Given the description of an element on the screen output the (x, y) to click on. 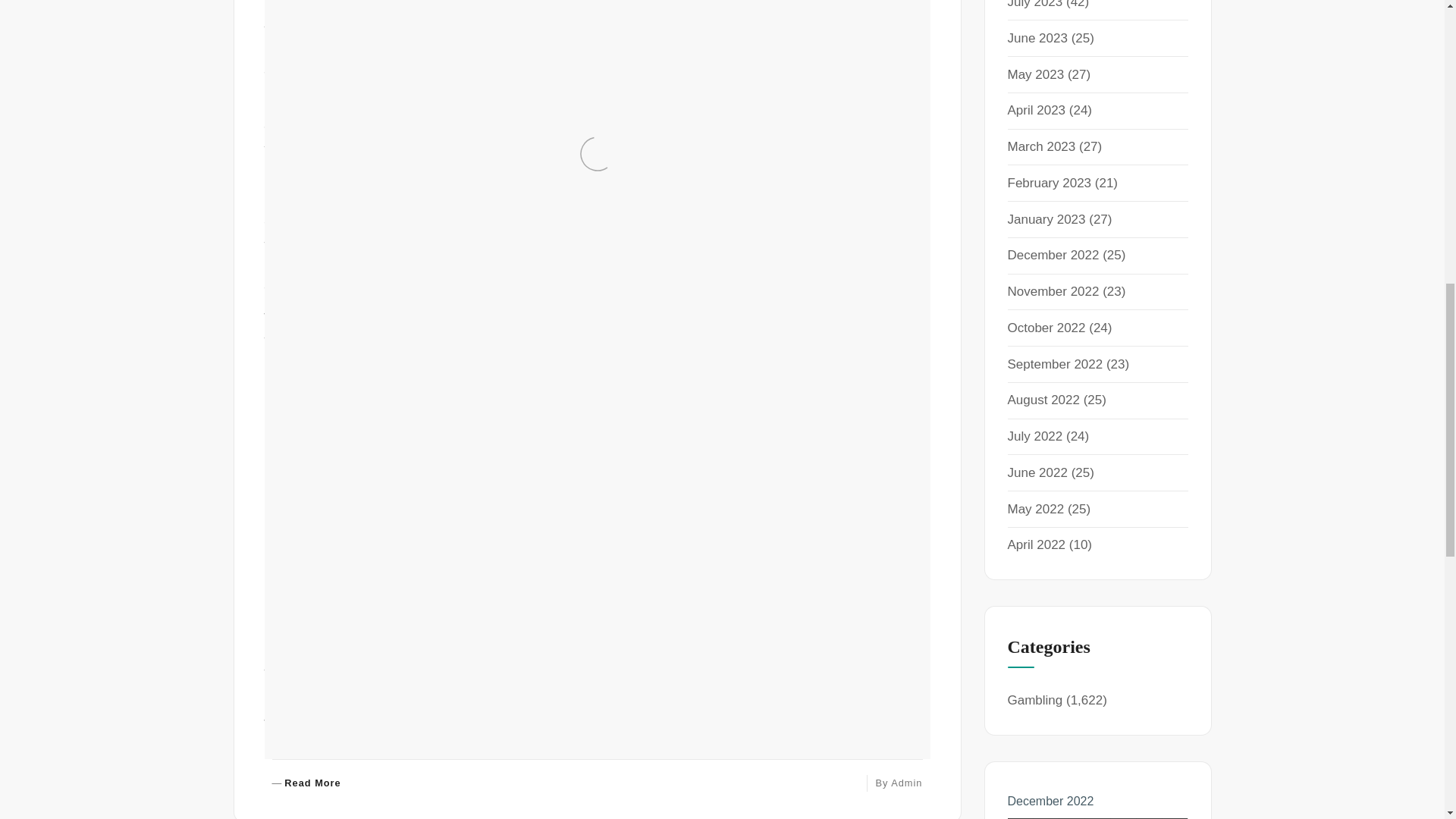
July 2023 (1034, 4)
January 2023 (1045, 219)
November 2022 (1053, 291)
March 2023 (305, 783)
September 2022 (1041, 146)
June 2023 (1054, 364)
Admin (1037, 38)
May 2023 (906, 782)
Thursday (1035, 74)
